Given the description of an element on the screen output the (x, y) to click on. 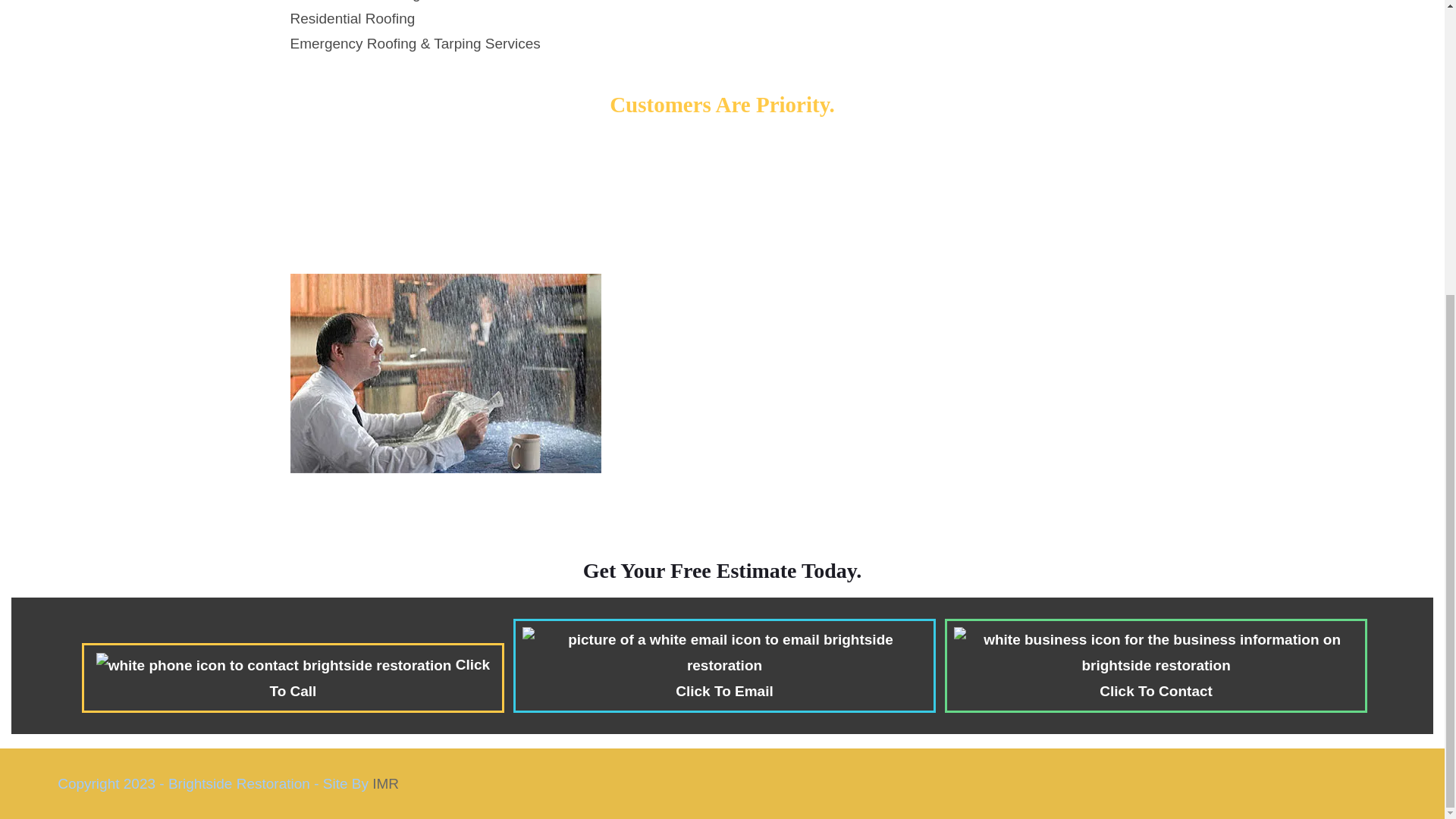
Click To Call (292, 677)
IMR (385, 783)
Click To Email (724, 665)
Click To Contact (1155, 665)
